Given the description of an element on the screen output the (x, y) to click on. 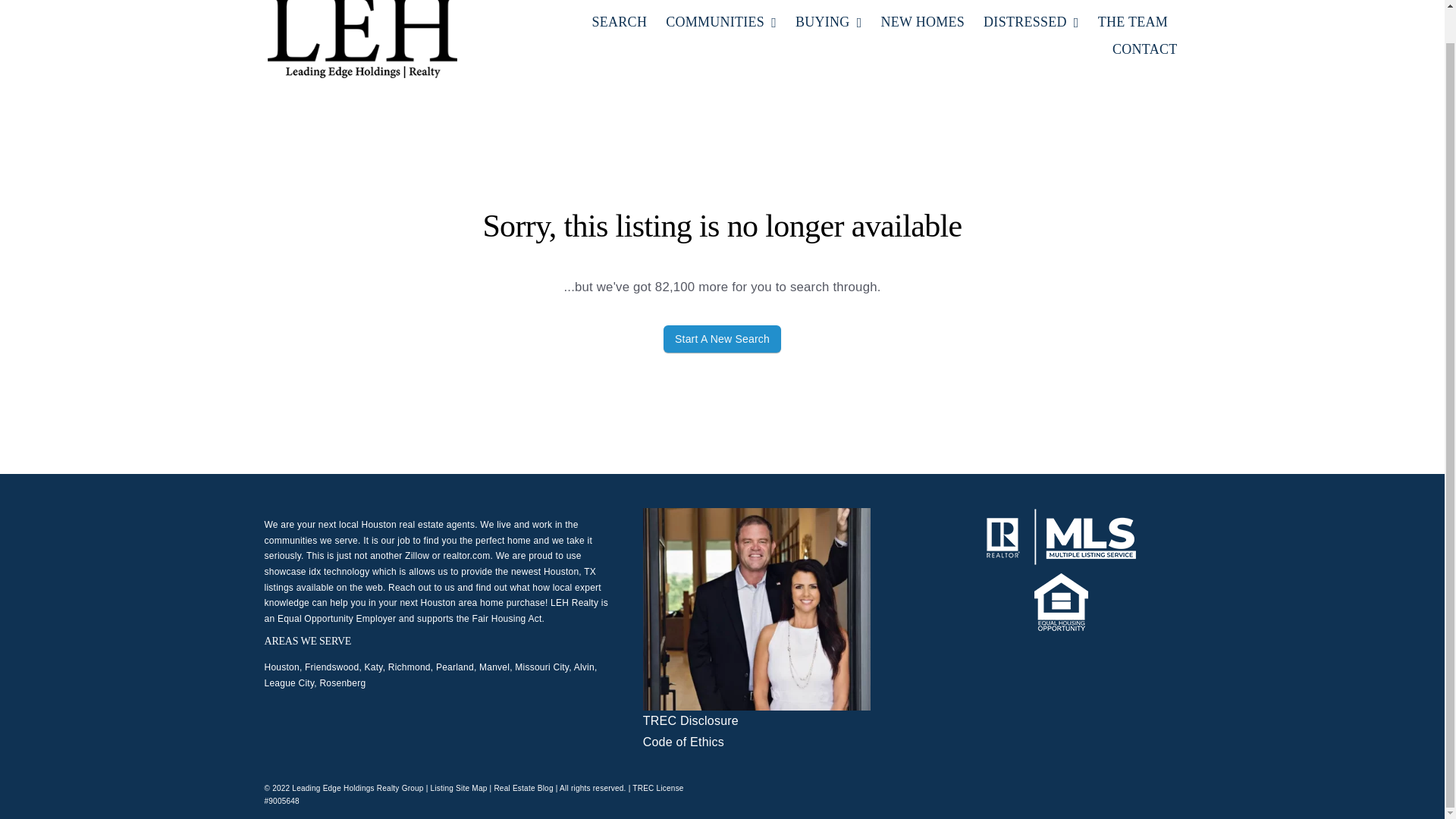
SEARCH (619, 22)
BUYING (827, 22)
COMMUNITIES (720, 22)
Realtor-MLS (1061, 536)
Equal Housing Opportunity (1060, 601)
newest Houston, TX listings (429, 579)
CONTACT US (1144, 49)
Katy (373, 666)
Richmond (409, 666)
Manvel (494, 666)
